Given the description of an element on the screen output the (x, y) to click on. 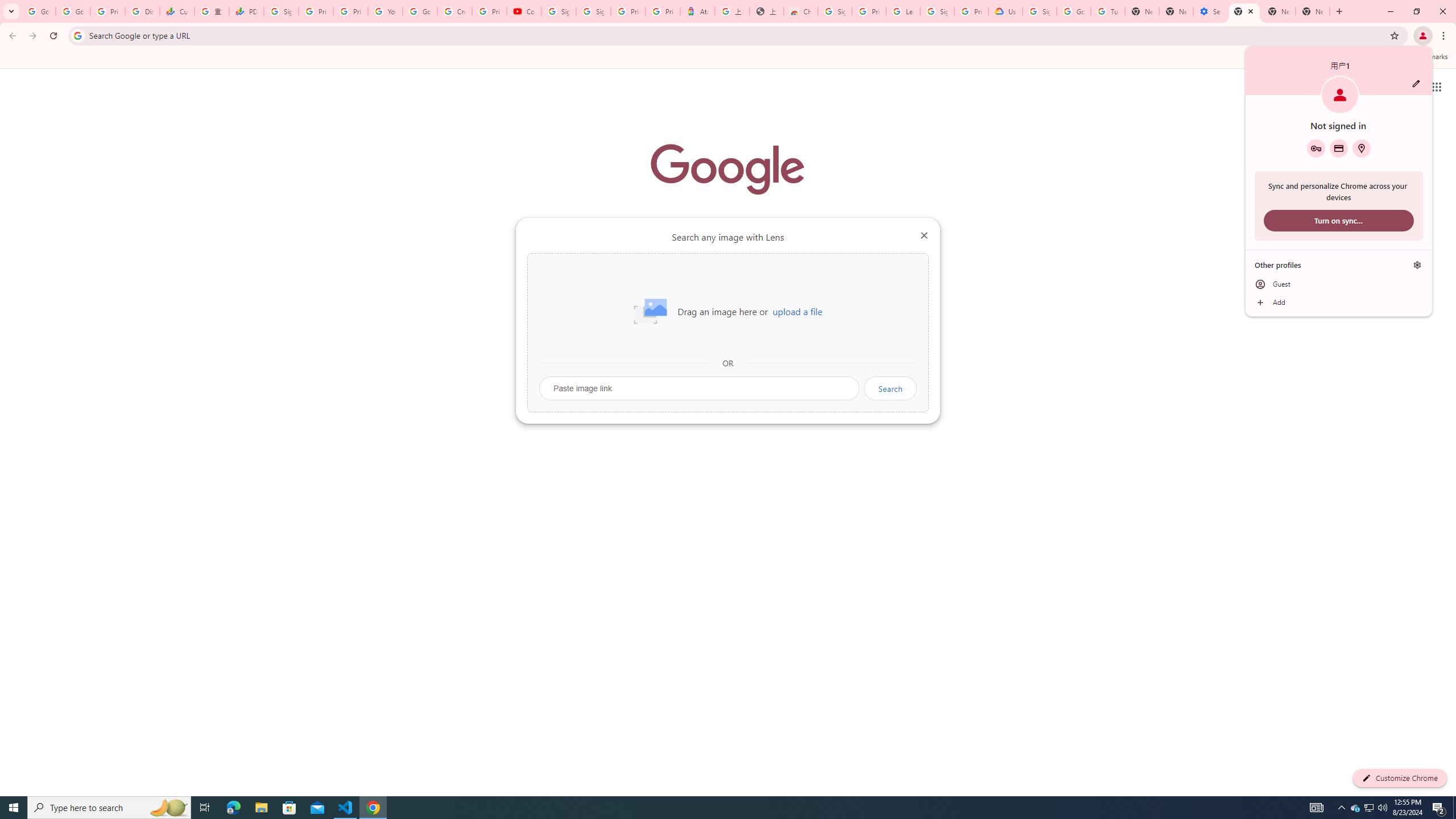
Add (1338, 302)
Chrome Web Store - Color themes by Chrome (800, 11)
Create your Google Account (454, 11)
Google Password Manager (1315, 148)
PDD Holdings Inc - ADR (PDD) Price & News - Google Finance (246, 11)
Google Chrome - 1 running window (373, 807)
Q2790: 100% (1382, 807)
Search highlights icon opens search home window (167, 807)
Settings - System (1209, 11)
Addresses and more (1361, 148)
New Tab (1243, 11)
